Given the description of an element on the screen output the (x, y) to click on. 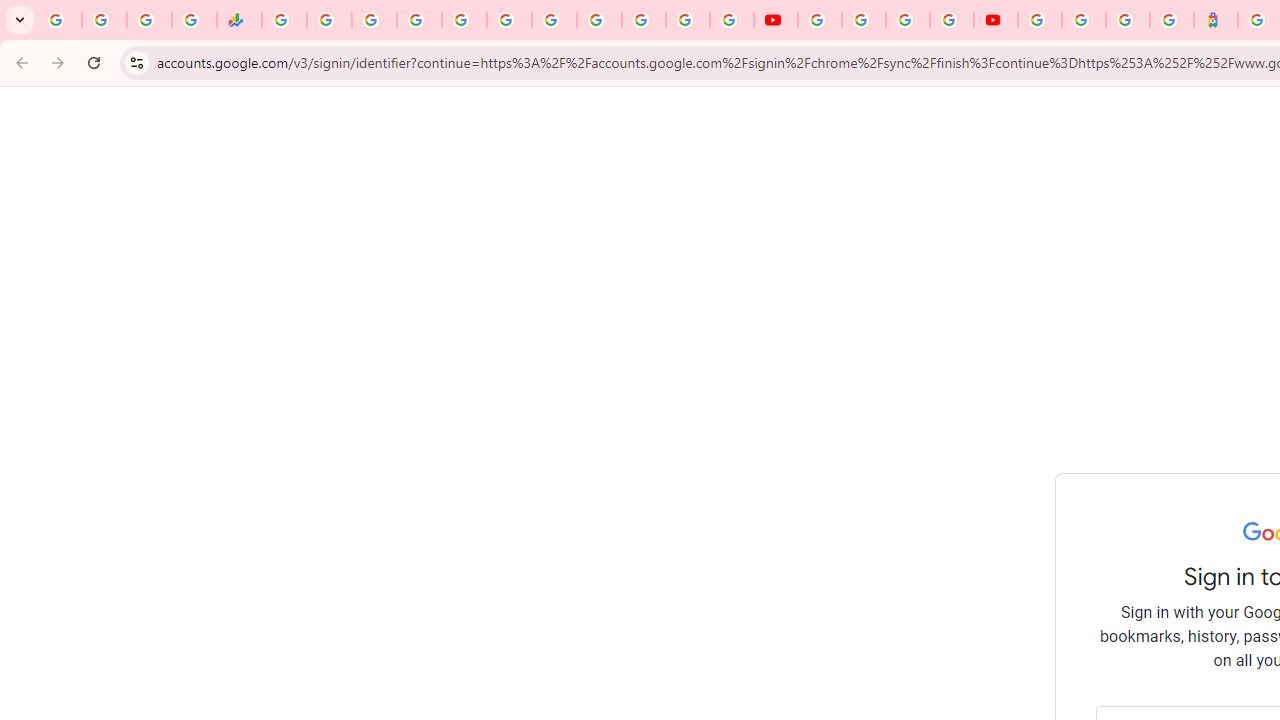
Atour Hotel - Google hotels (1215, 20)
Sign in - Google Accounts (1083, 20)
Create your Google Account (907, 20)
YouTube (775, 20)
Sign in - Google Accounts (1039, 20)
Android TV Policies and Guidelines - Transparency Center (554, 20)
YouTube (599, 20)
